Given the description of an element on the screen output the (x, y) to click on. 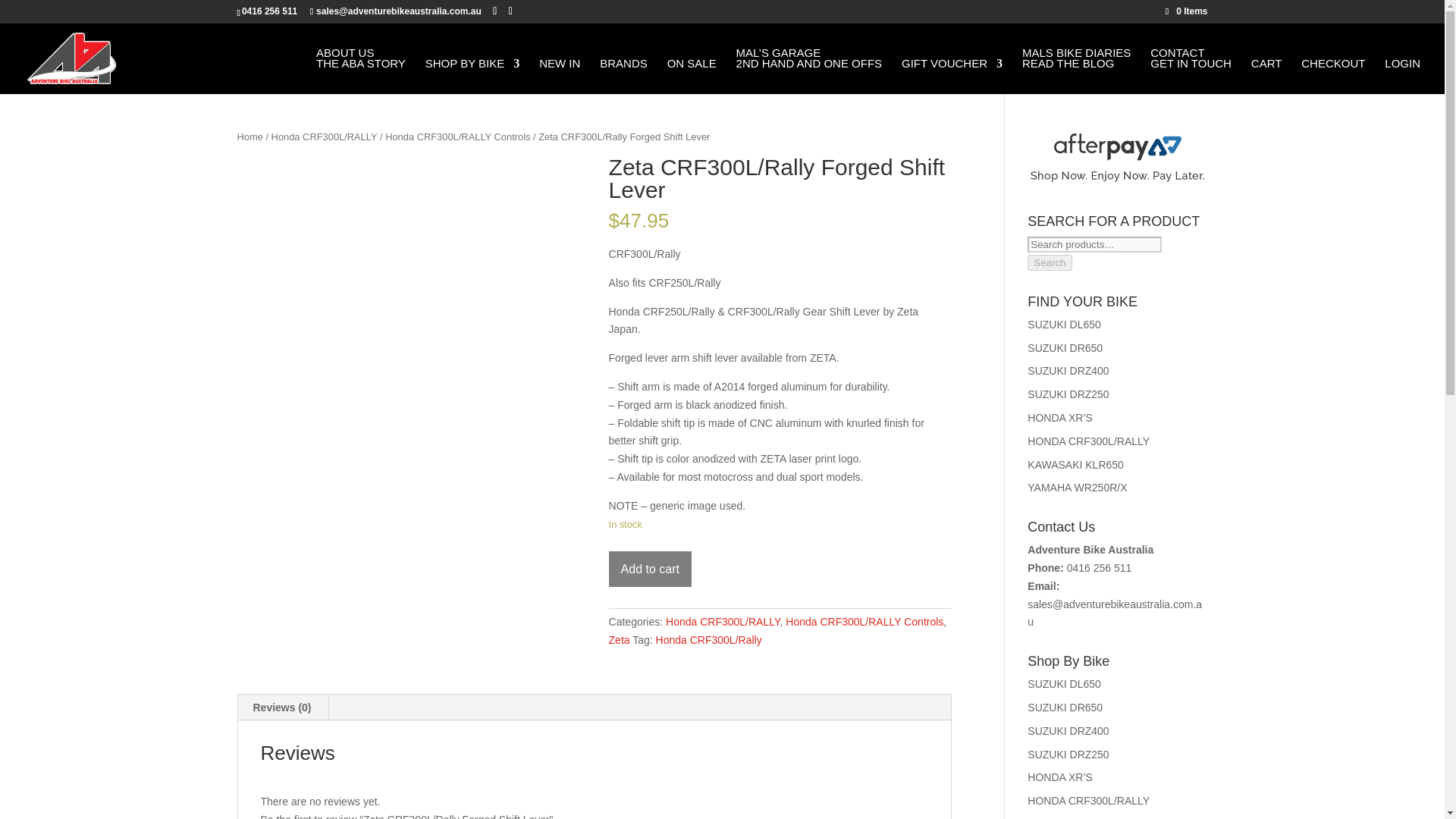
SHOP BY BIKE (472, 76)
0 Items (360, 70)
